Given the description of an element on the screen output the (x, y) to click on. 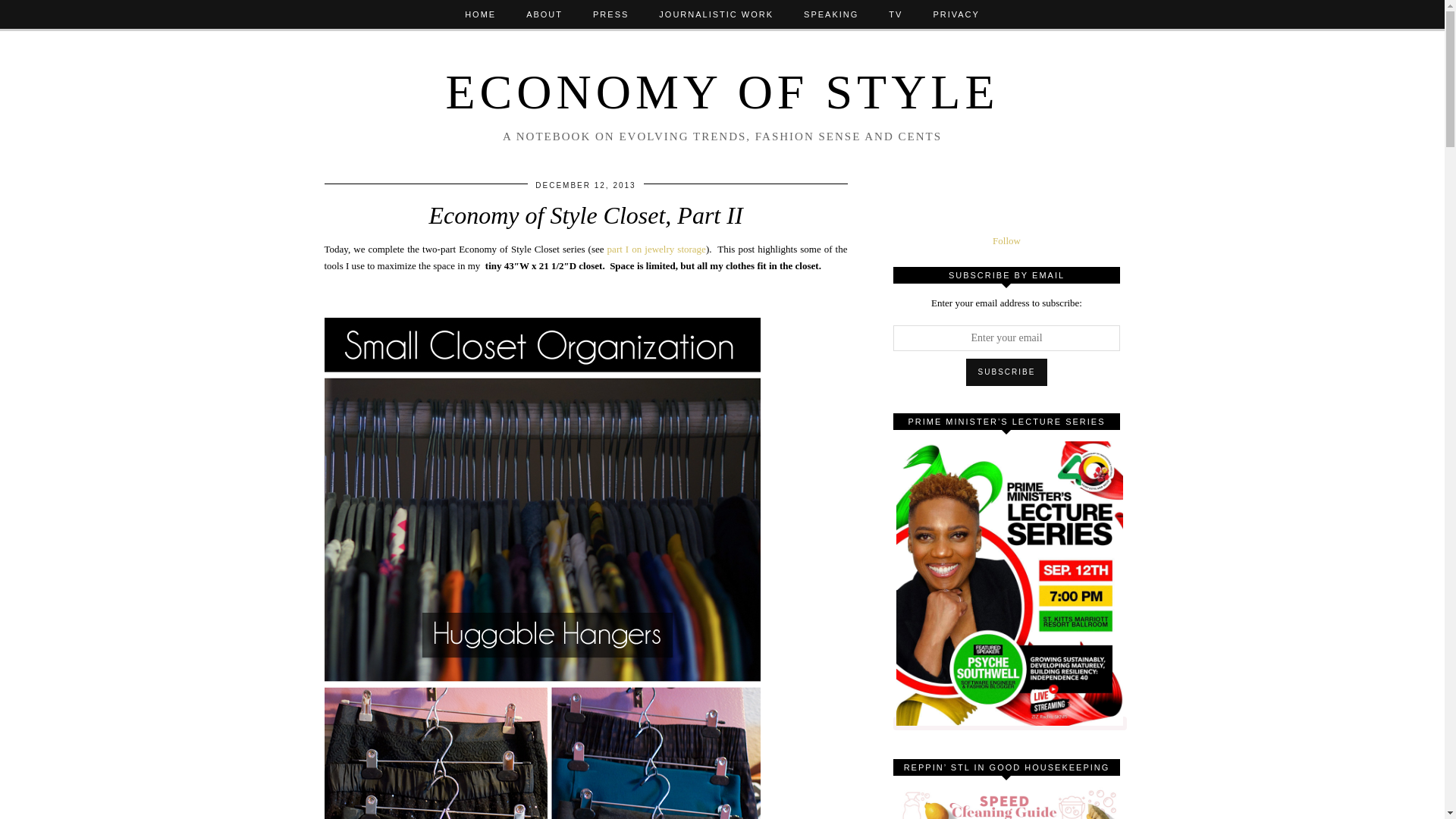
part I on jewelry storage (656, 248)
JOURNALISTIC WORK (716, 14)
Economy of Style (721, 91)
SPEAKING (831, 14)
HOME (480, 14)
TV (895, 14)
PRIVACY (955, 14)
PRESS (610, 14)
Subscribe (1007, 371)
ECONOMY OF STYLE (721, 91)
